Given the description of an element on the screen output the (x, y) to click on. 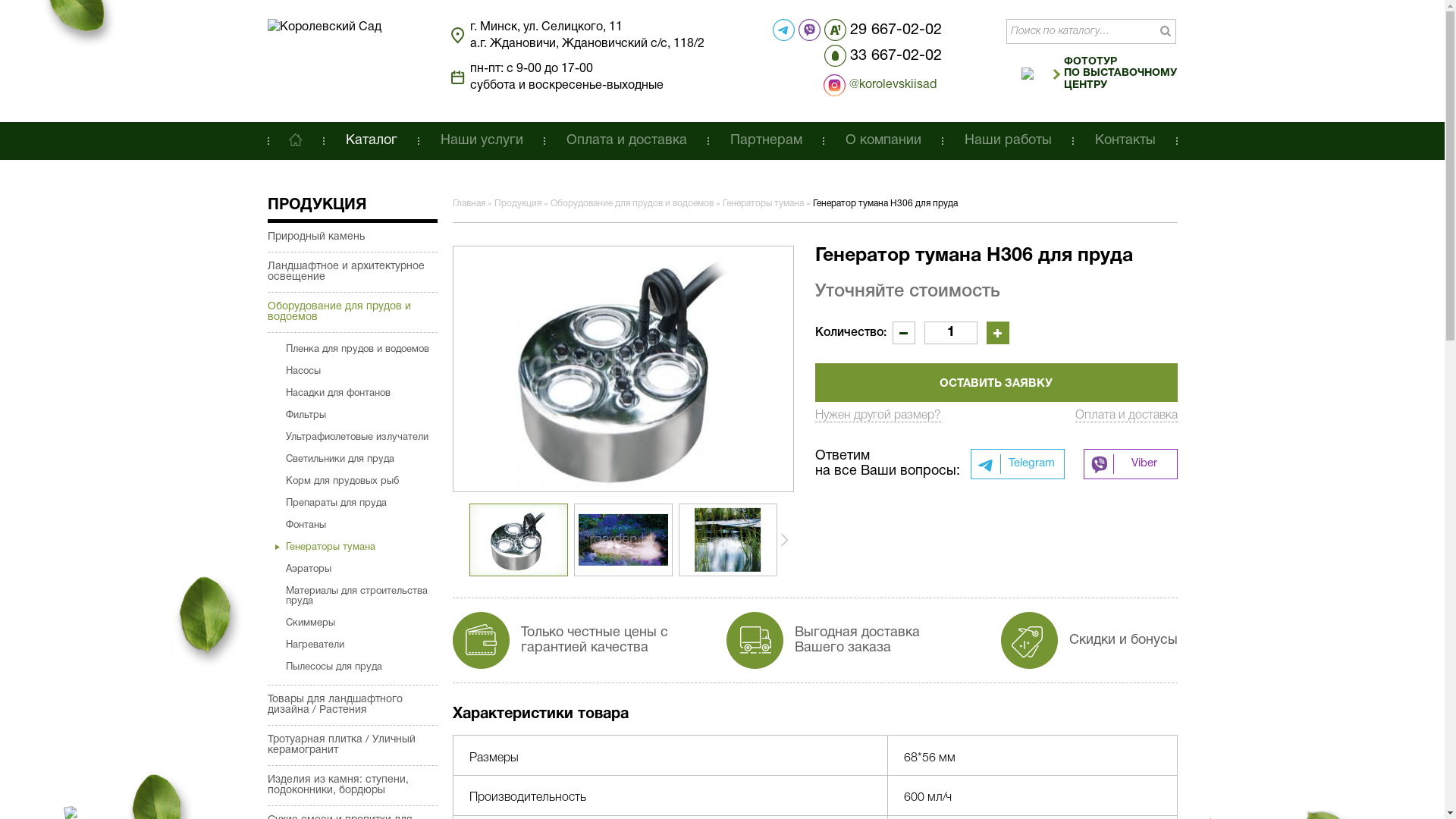
29 667-02-02 Element type: text (882, 29)
generator-tumana-h306-dlya-pruda Element type: hover (622, 368)
@korolevskiisad Element type: text (854, 85)
Viber Element type: text (1129, 463)
Next Element type: text (783, 539)
Telegram Element type: text (1017, 463)
33 667-02-02 Element type: text (882, 55)
